Given the description of an element on the screen output the (x, y) to click on. 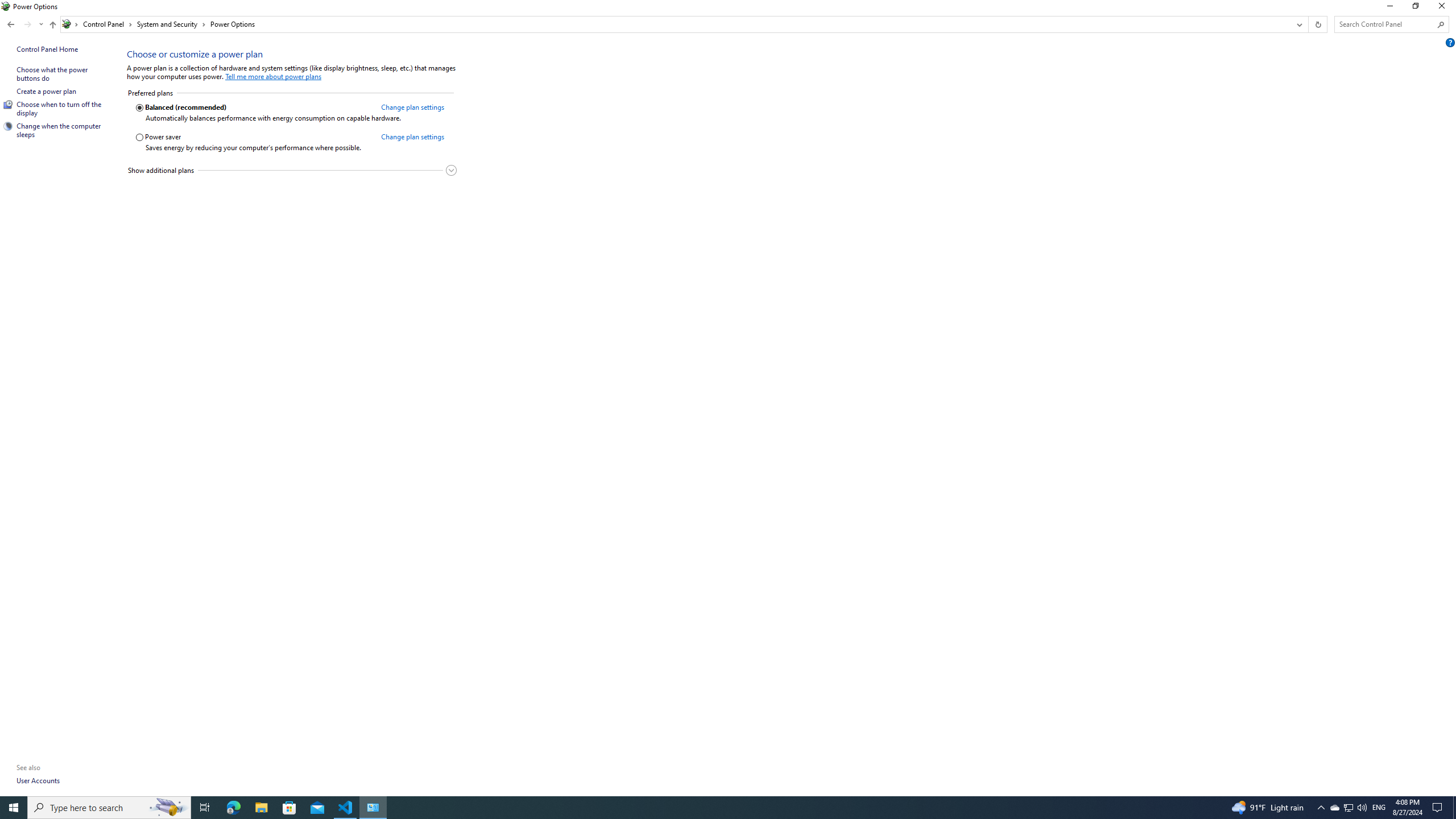
All locations (70, 23)
User Accounts (38, 780)
Forward (Alt + Right Arrow) (27, 23)
Navigation buttons (24, 23)
Change plan settings for the Balanced (recommended) plan (412, 107)
Search (1441, 24)
Control Panel Home (47, 49)
Tell me more about power plans (273, 76)
System (6, 6)
Icon (7, 126)
System and Security (171, 23)
